Given the description of an element on the screen output the (x, y) to click on. 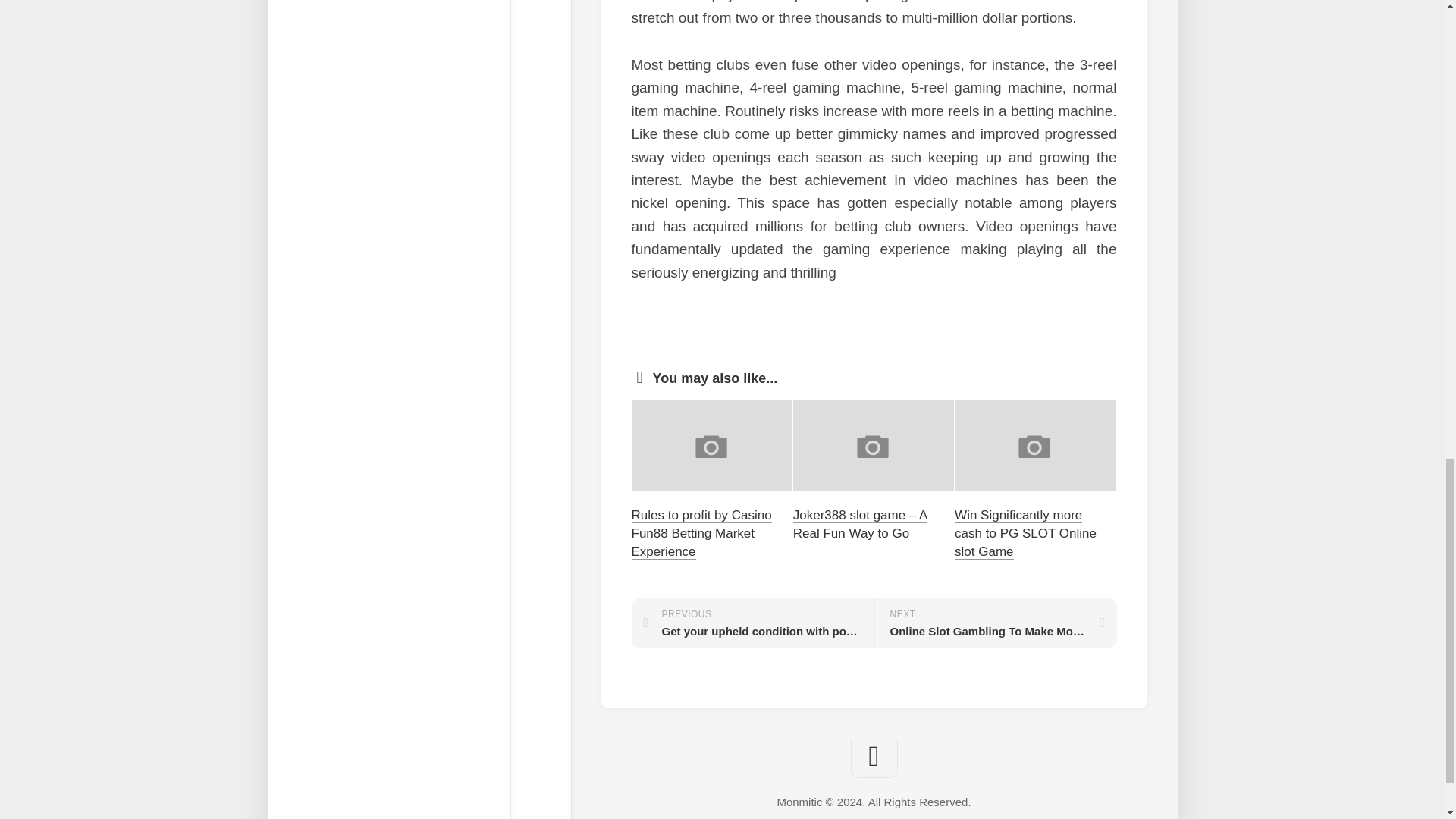
Rules to profit by Casino Fun88 Betting Market Experience (700, 532)
Win Significantly more cash to PG SLOT Online slot Game (994, 622)
